Given the description of an element on the screen output the (x, y) to click on. 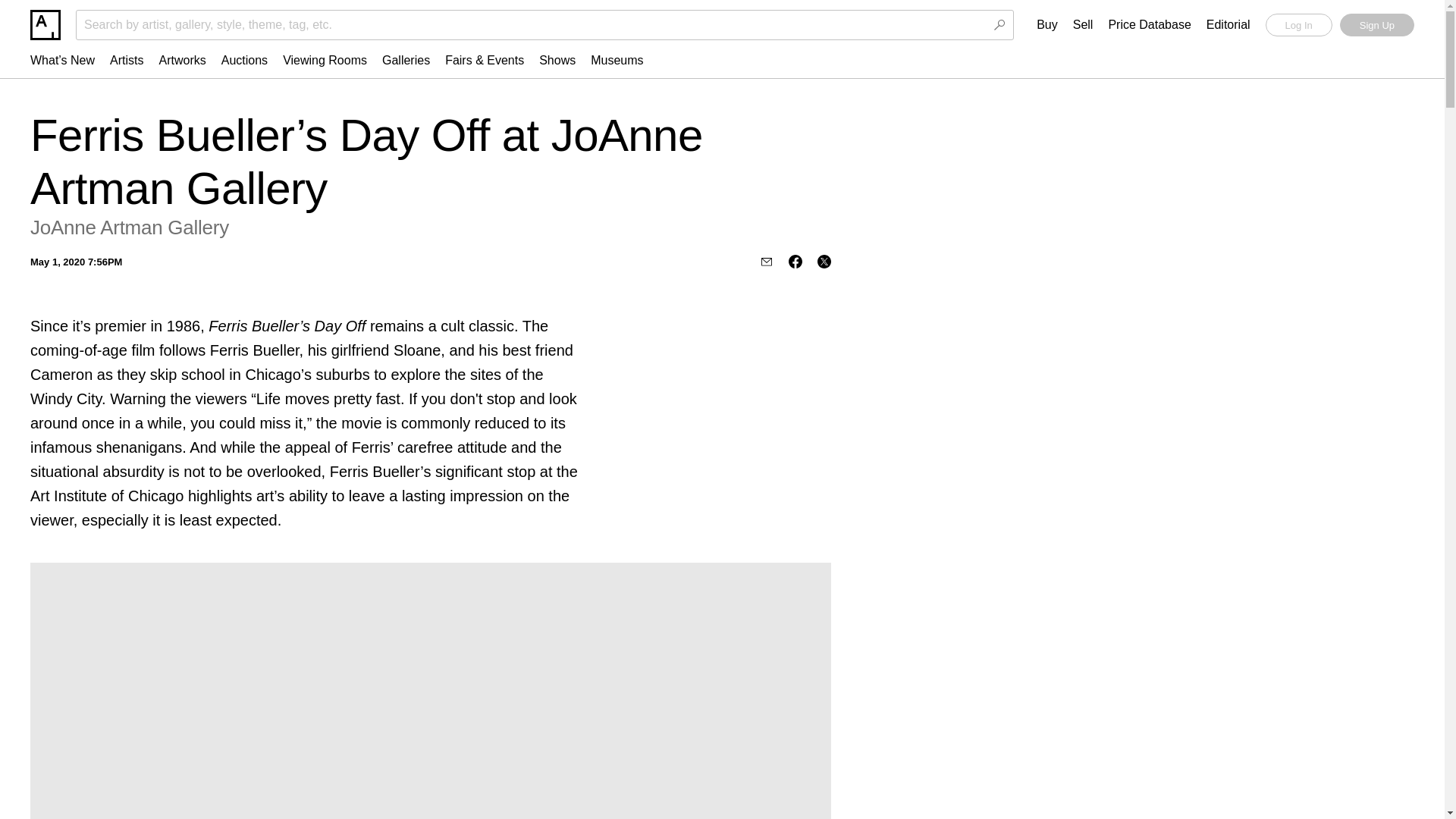
Galleries (406, 59)
Editorial (1227, 25)
Viewing Rooms (324, 59)
Post to Facebook (795, 261)
Sign Up (1376, 24)
Buy (1047, 25)
Price Database (1149, 25)
Shows (557, 59)
Sell (1082, 25)
Artworks (182, 59)
Artists (126, 59)
Share on X (823, 261)
Log In (1298, 24)
Share via email (766, 261)
Auctions (244, 59)
